Given the description of an element on the screen output the (x, y) to click on. 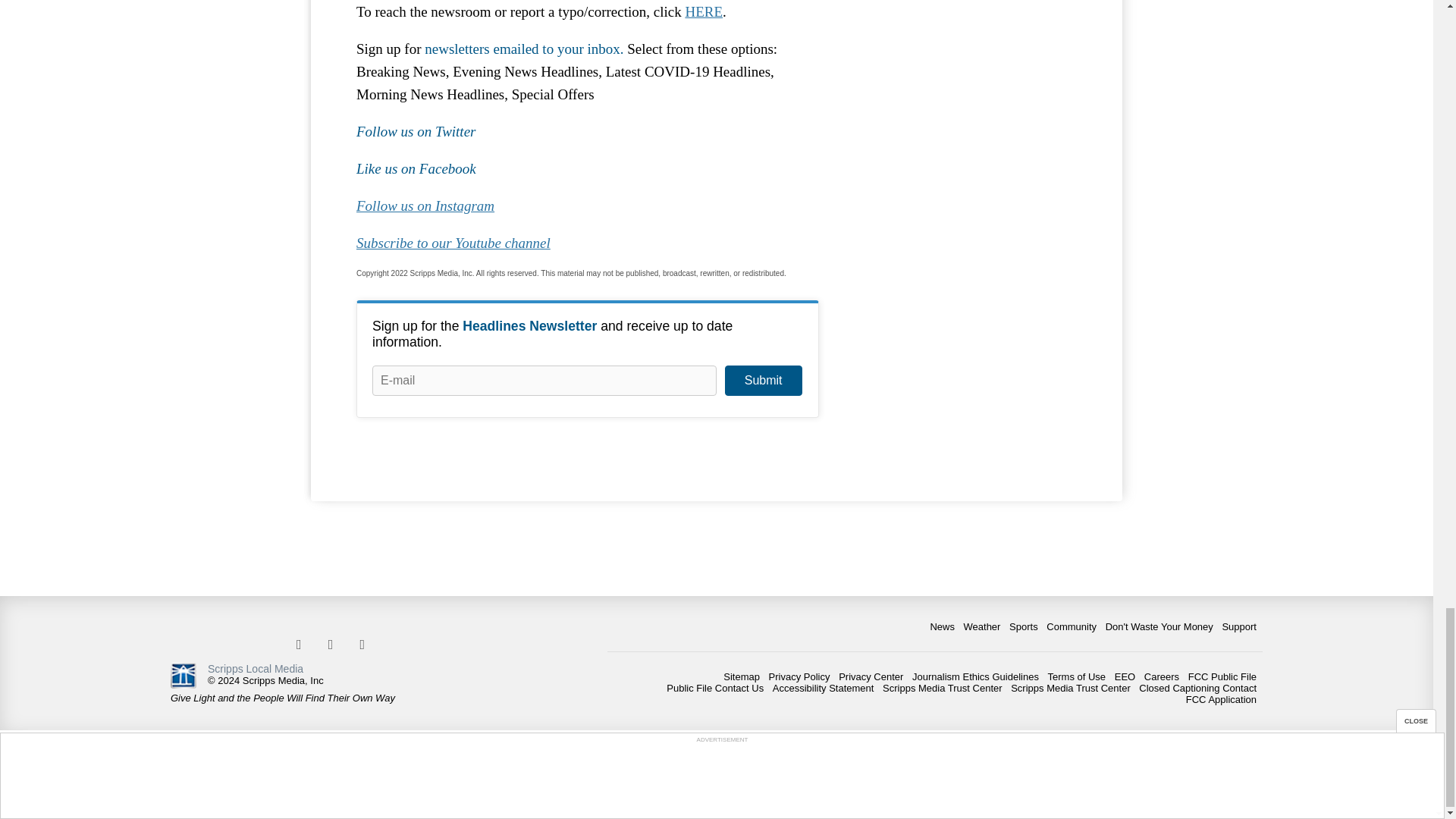
Submit (763, 380)
